Given the description of an element on the screen output the (x, y) to click on. 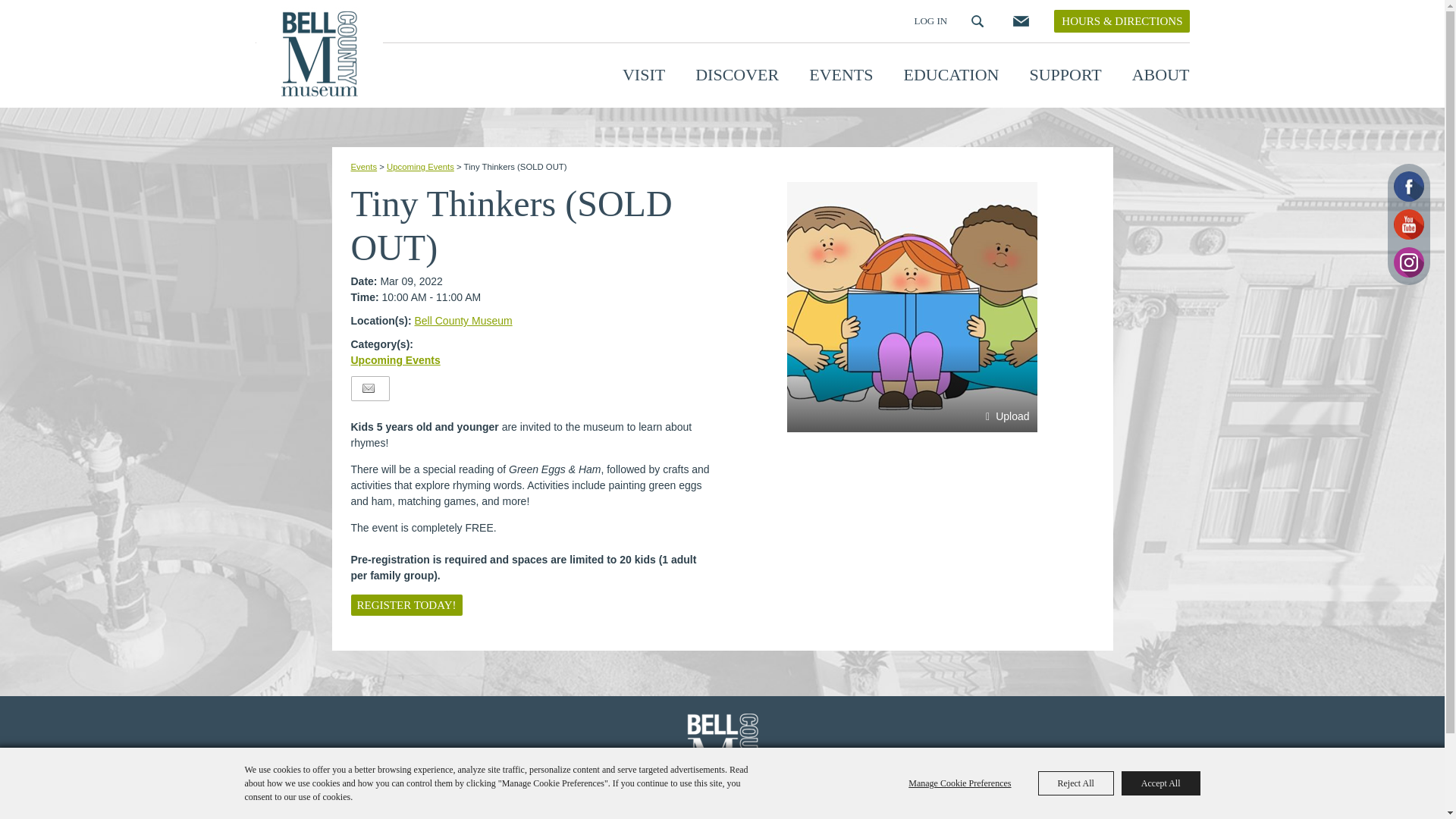
LOG IN (930, 20)
Email to Friend (368, 388)
GET UPDATES (1019, 21)
EDUCATION (951, 74)
EVENTS (840, 74)
VISIT (644, 74)
SEARCH (977, 21)
DISCOVER (736, 74)
